Given the description of an element on the screen output the (x, y) to click on. 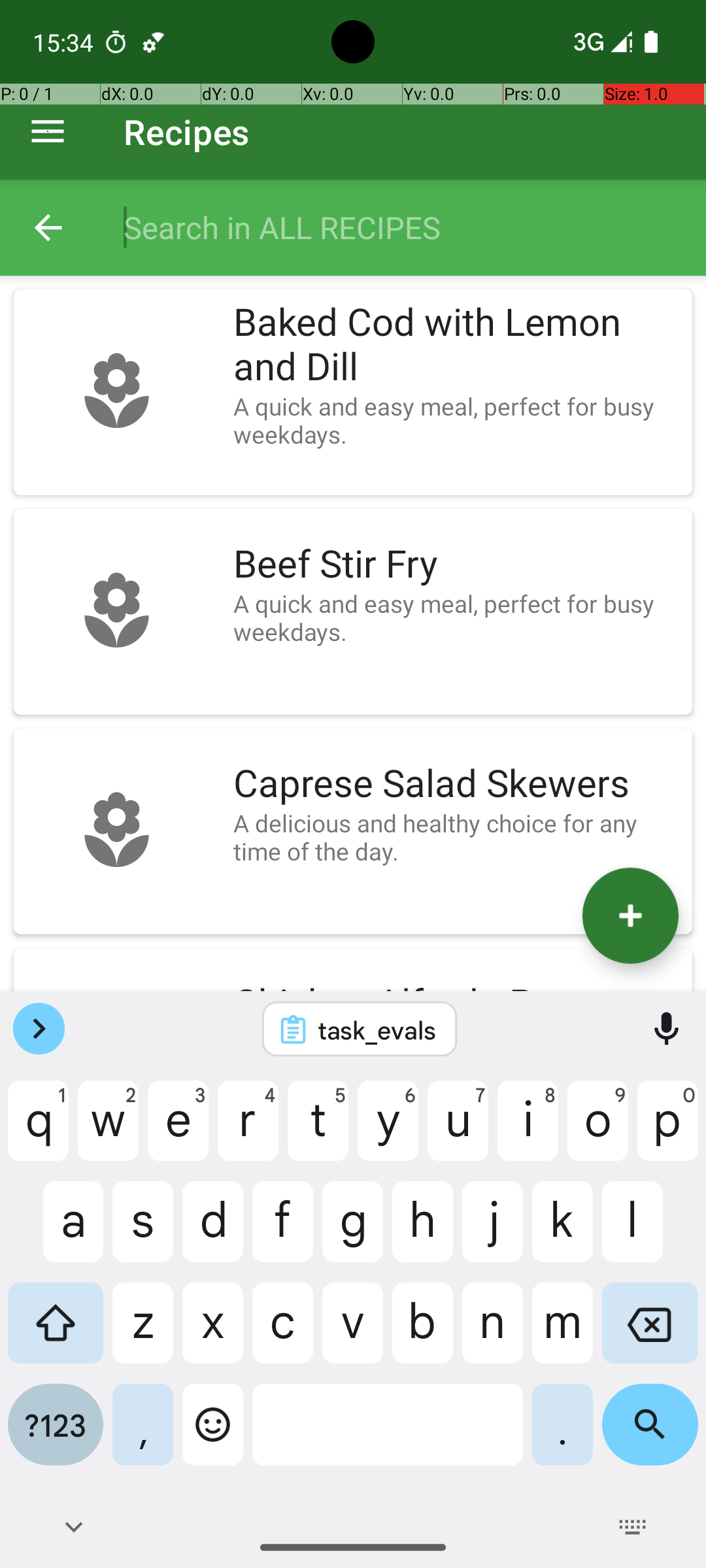
task_evals Element type: android.widget.TextView (376, 1029)
